Given the description of an element on the screen output the (x, y) to click on. 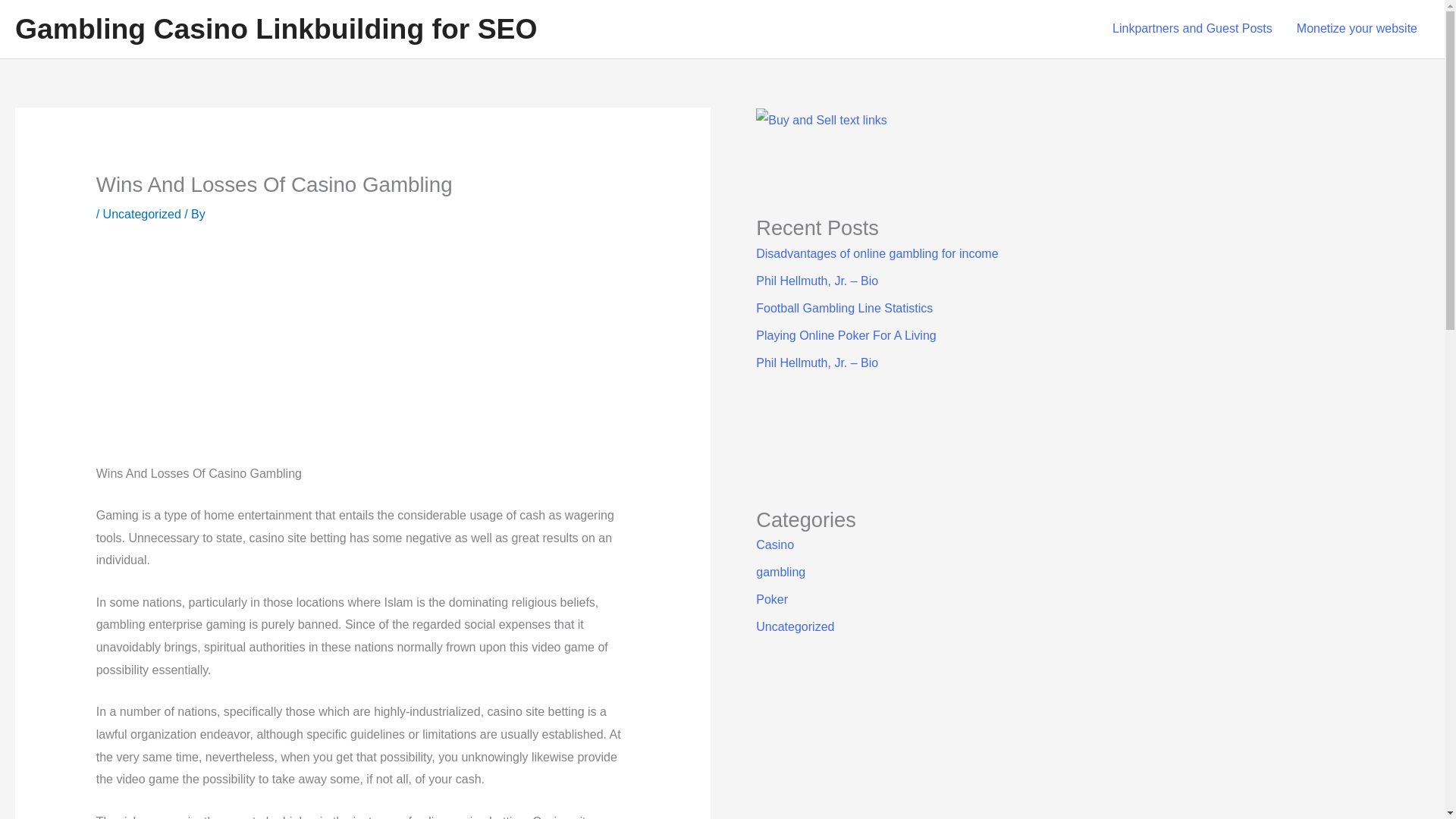
gambling (780, 571)
Poker (771, 599)
Monetize your website (1356, 28)
Gambling Casino Linkbuilding for SEO (275, 29)
Uncategorized (794, 626)
Football Gambling Line Statistics (844, 308)
Playing Online Poker For A Living (845, 335)
Casino (774, 544)
Uncategorized (141, 214)
Linkpartners and Guest Posts (1192, 28)
